Given the description of an element on the screen output the (x, y) to click on. 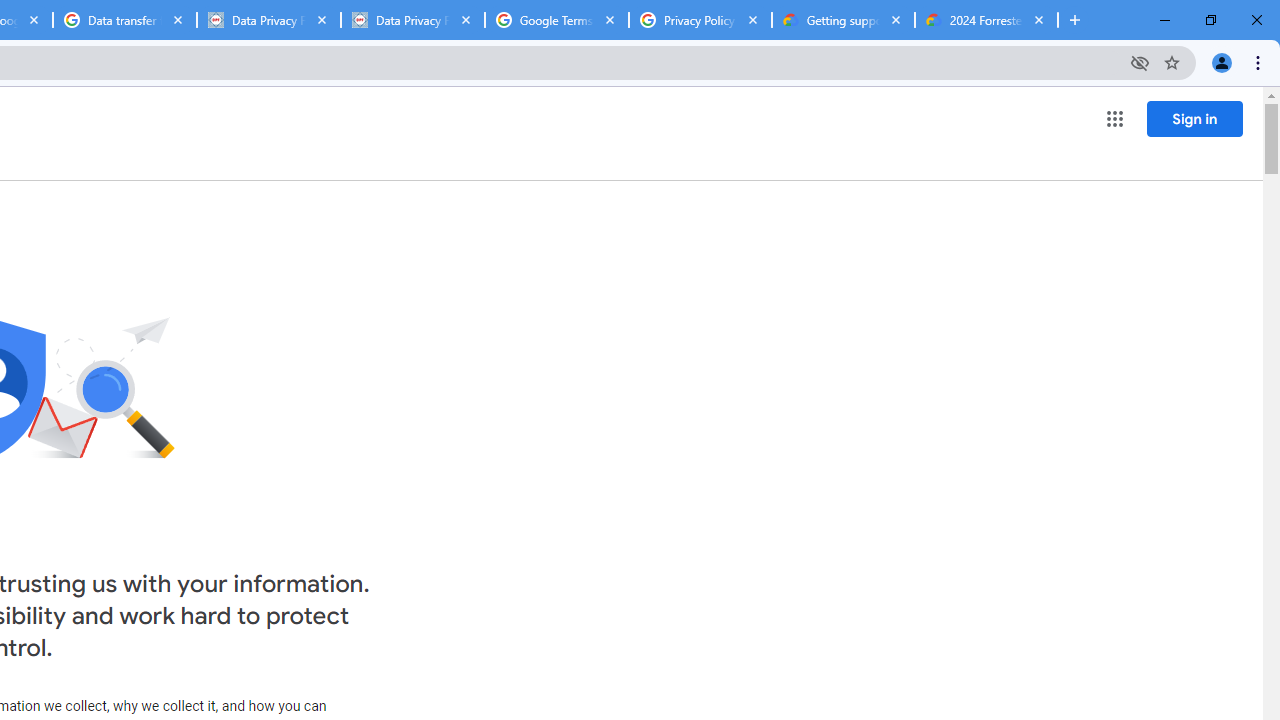
Data Privacy Framework (412, 20)
Data Privacy Framework (268, 20)
